Given the description of an element on the screen output the (x, y) to click on. 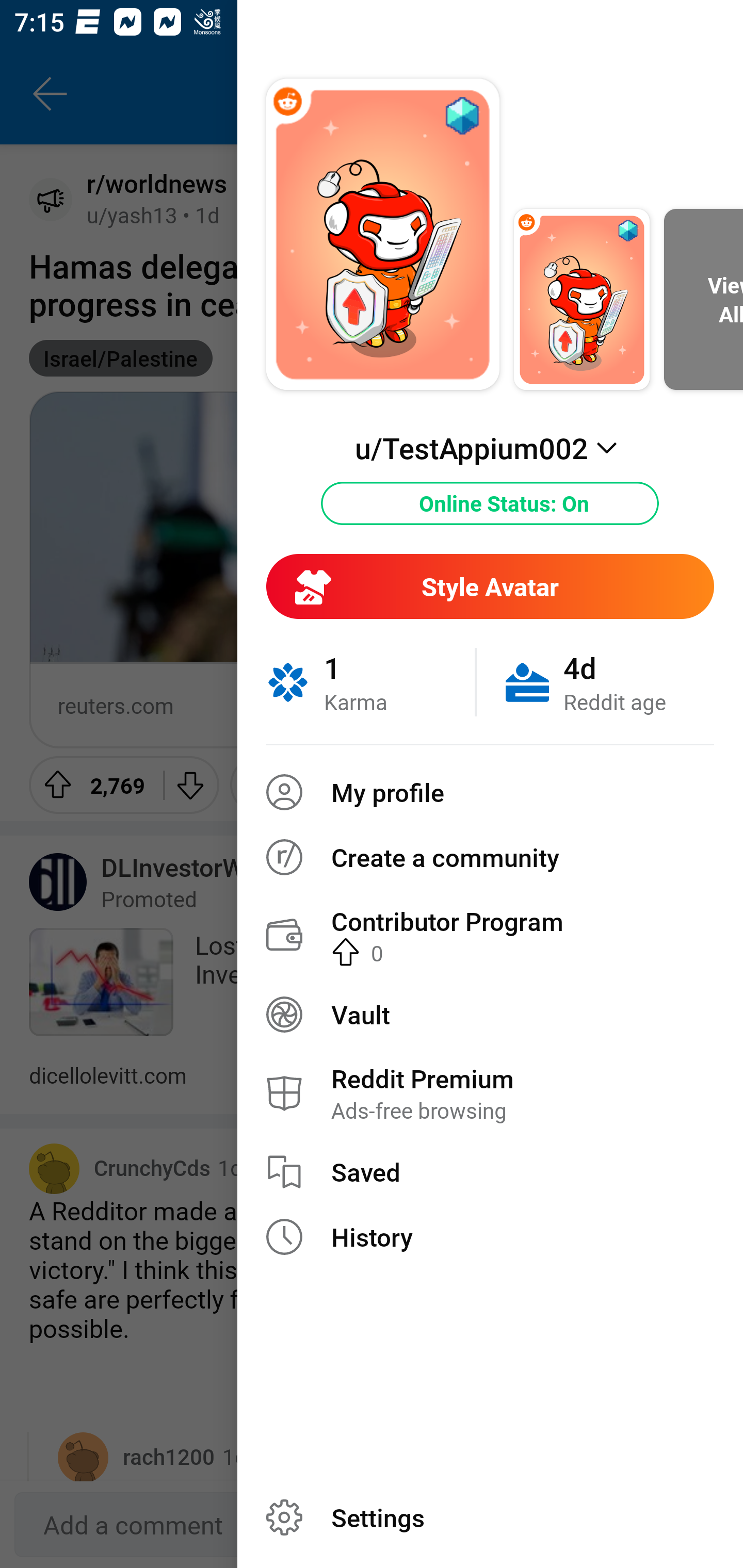
u/TestAppium002 (489, 447)
Online Status: On (489, 503)
Style Avatar (489, 586)
1 Karma 1 Karma (369, 681)
Open (637, 704)
My profile (490, 792)
Create a community (490, 856)
Contributor Program Contributor Program 0 (490, 935)
Vault (490, 1014)
Saved (490, 1171)
History (490, 1237)
Settings (490, 1517)
